Given the description of an element on the screen output the (x, y) to click on. 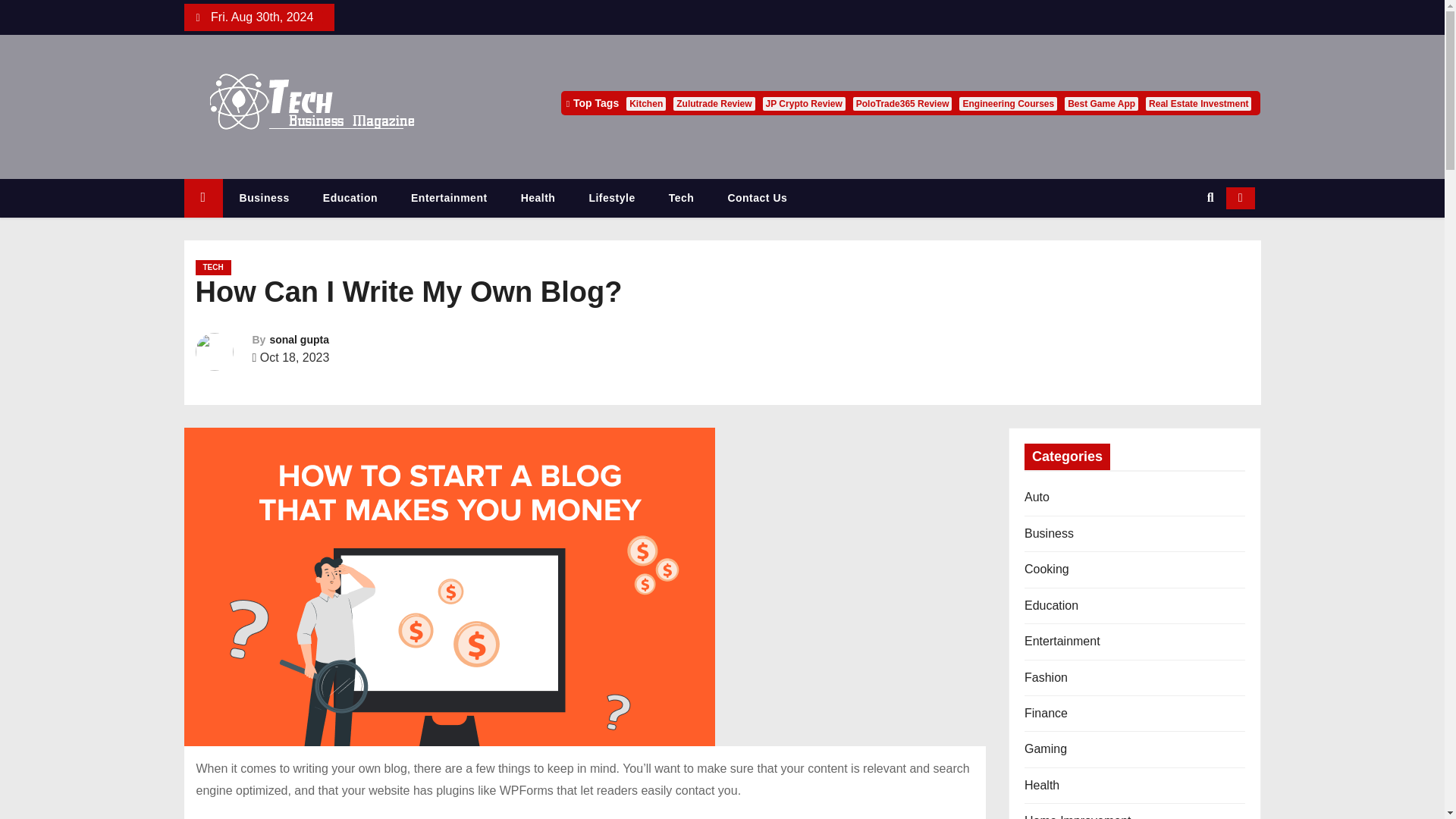
Entertainment (448, 198)
Best Game App (1101, 103)
Lifestyle (611, 198)
PoloTrade365 Review (902, 103)
Health (537, 198)
TECH (213, 267)
Home (202, 198)
Tech (681, 198)
Health (537, 198)
Business (263, 198)
